Given the description of an element on the screen output the (x, y) to click on. 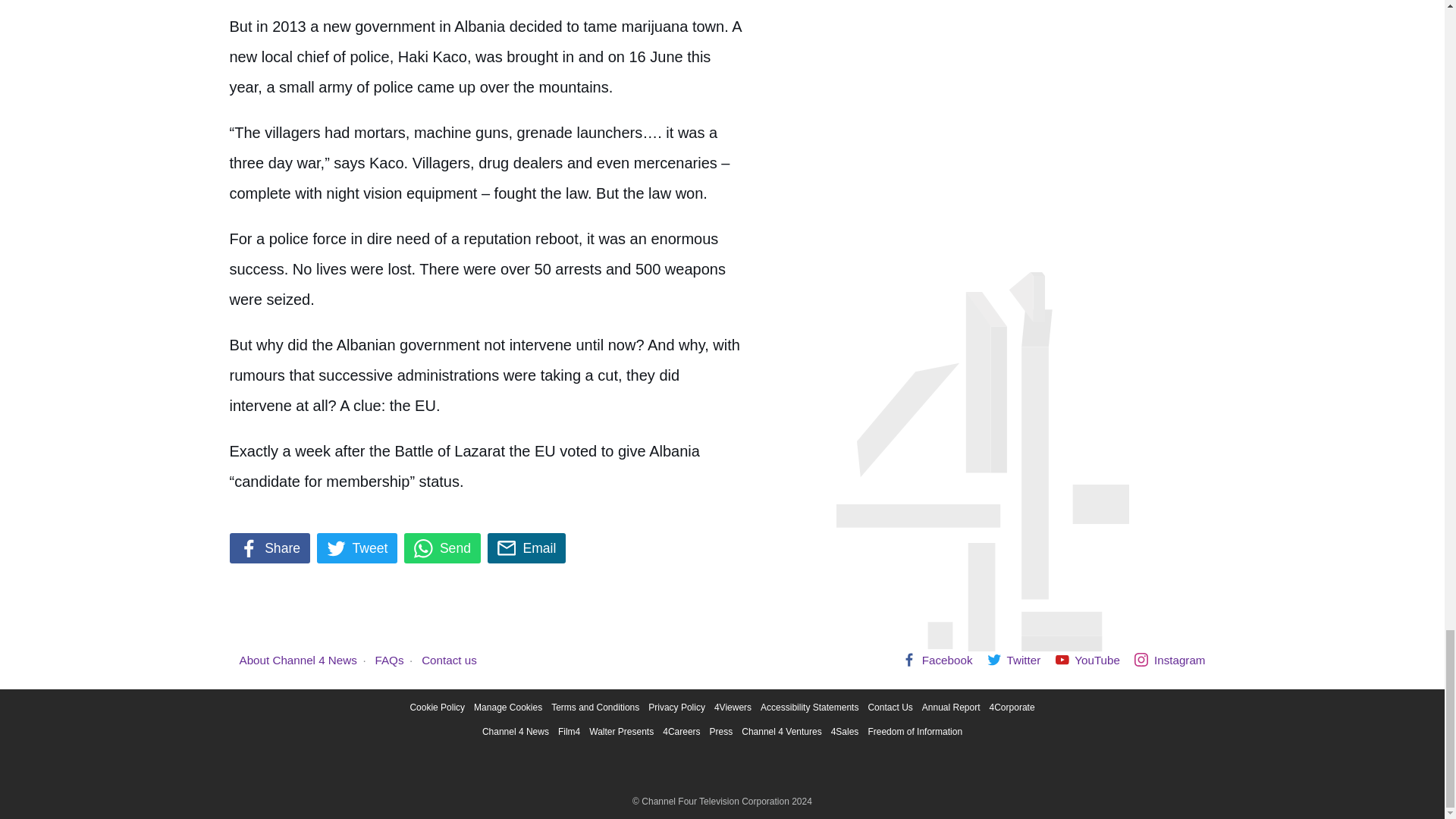
Email (526, 548)
Send (442, 548)
Share (269, 548)
Tweet (357, 548)
About Channel 4 News (298, 659)
FAQs (389, 659)
